Given the description of an element on the screen output the (x, y) to click on. 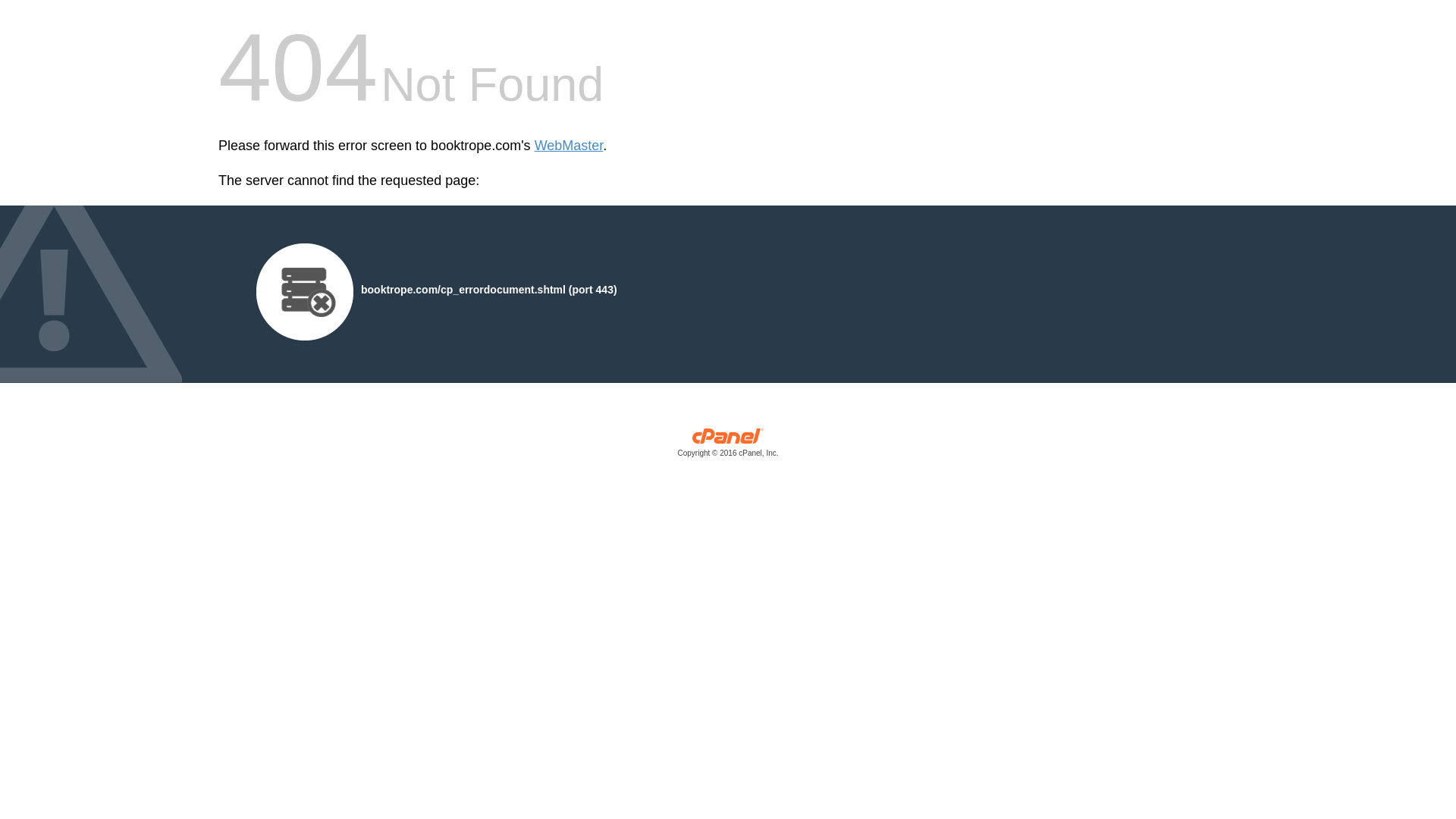
cPanel, Inc. (727, 446)
WebMaster (569, 145)
